Given the description of an element on the screen output the (x, y) to click on. 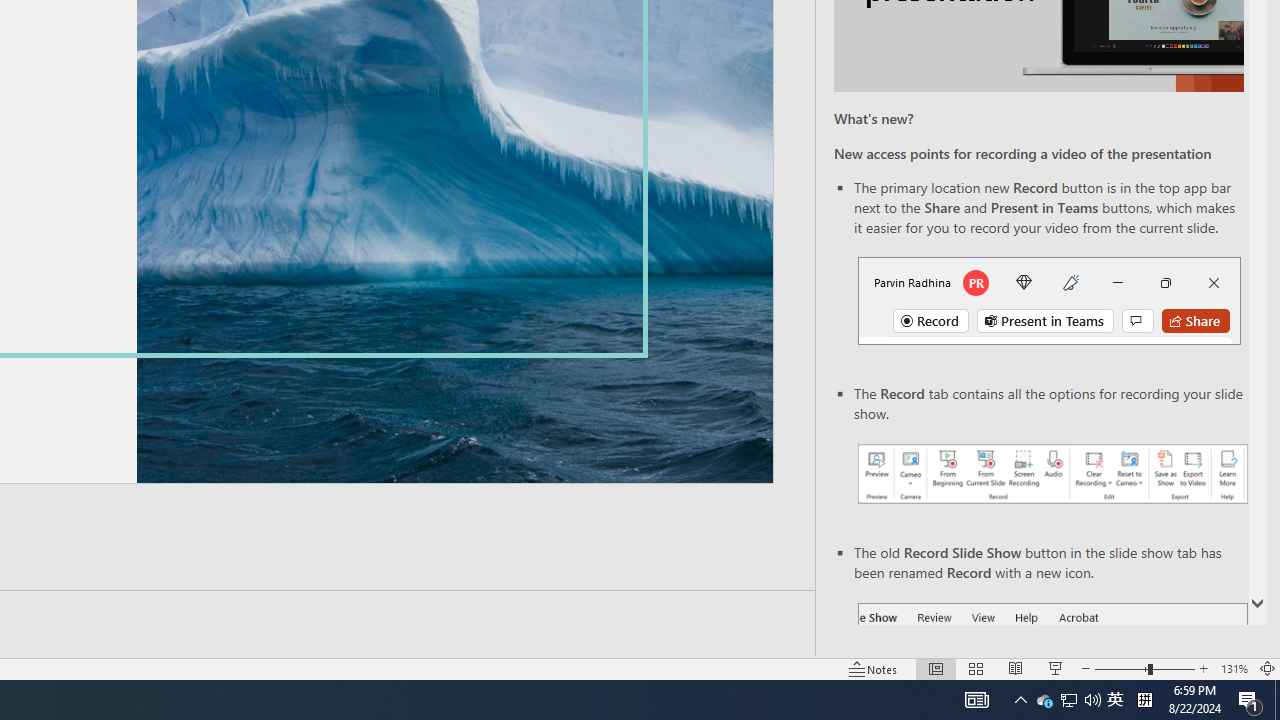
Action Center, 1 new notification (1250, 699)
Zoom 131% (1234, 668)
